Given the description of an element on the screen output the (x, y) to click on. 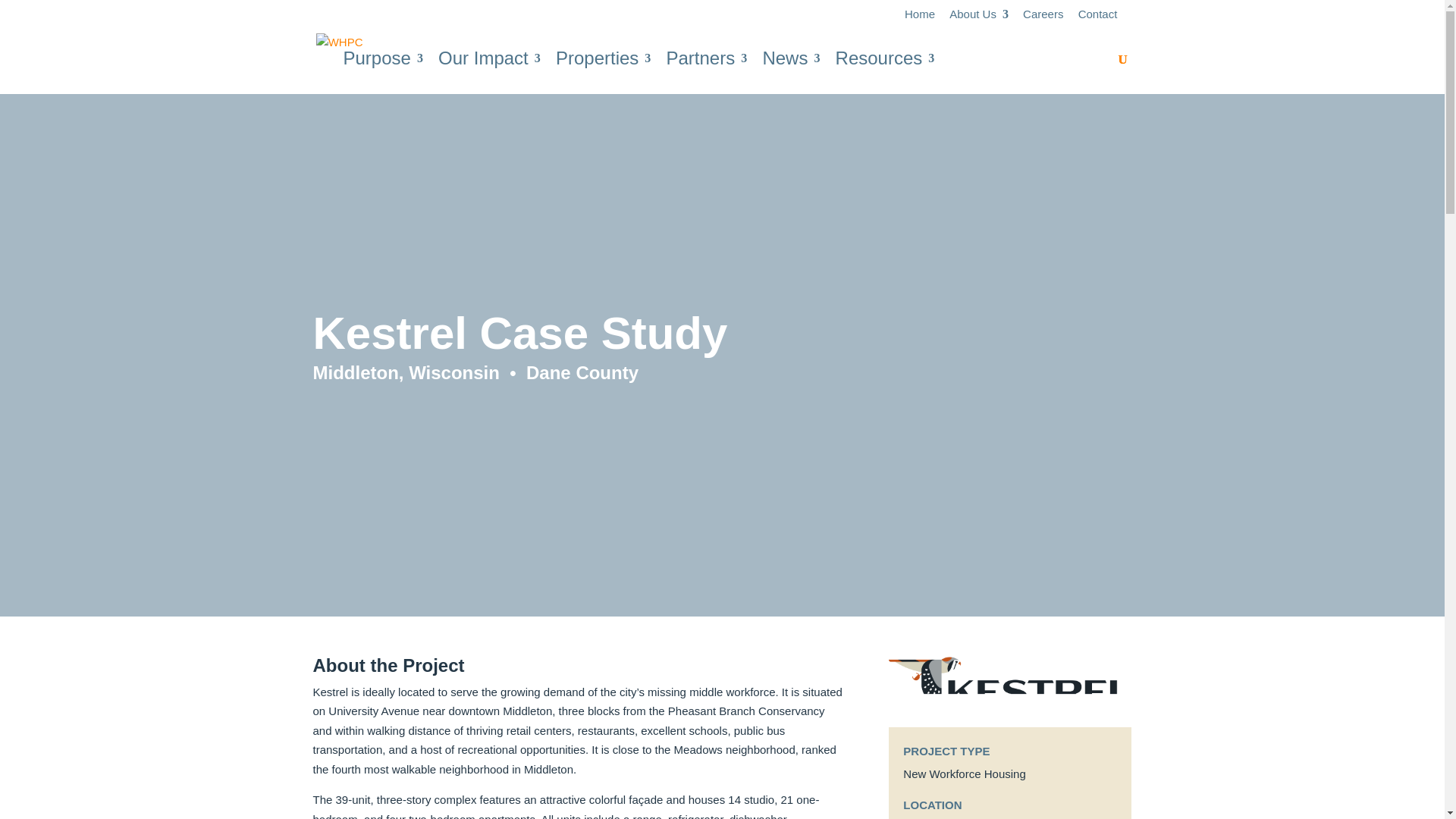
Resources (884, 73)
Contact (1098, 17)
Home (919, 17)
News (790, 73)
kestrel-logo (1009, 680)
Our Impact (489, 73)
Purpose (382, 73)
About Us (979, 17)
Partners (705, 73)
Careers (1042, 17)
Properties (603, 73)
